Given the description of an element on the screen output the (x, y) to click on. 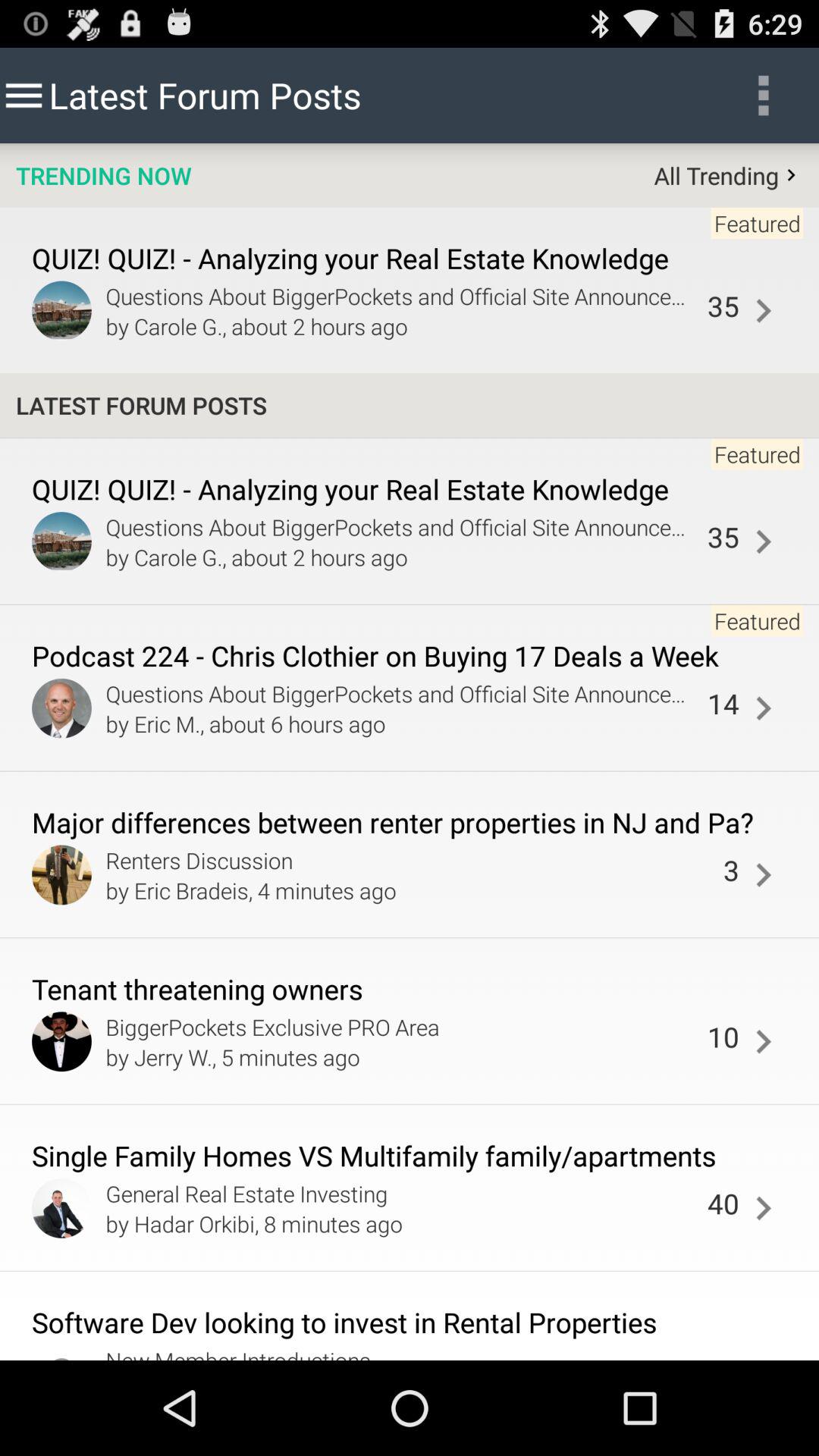
choose the item above software dev looking app (763, 1208)
